Given the description of an element on the screen output the (x, y) to click on. 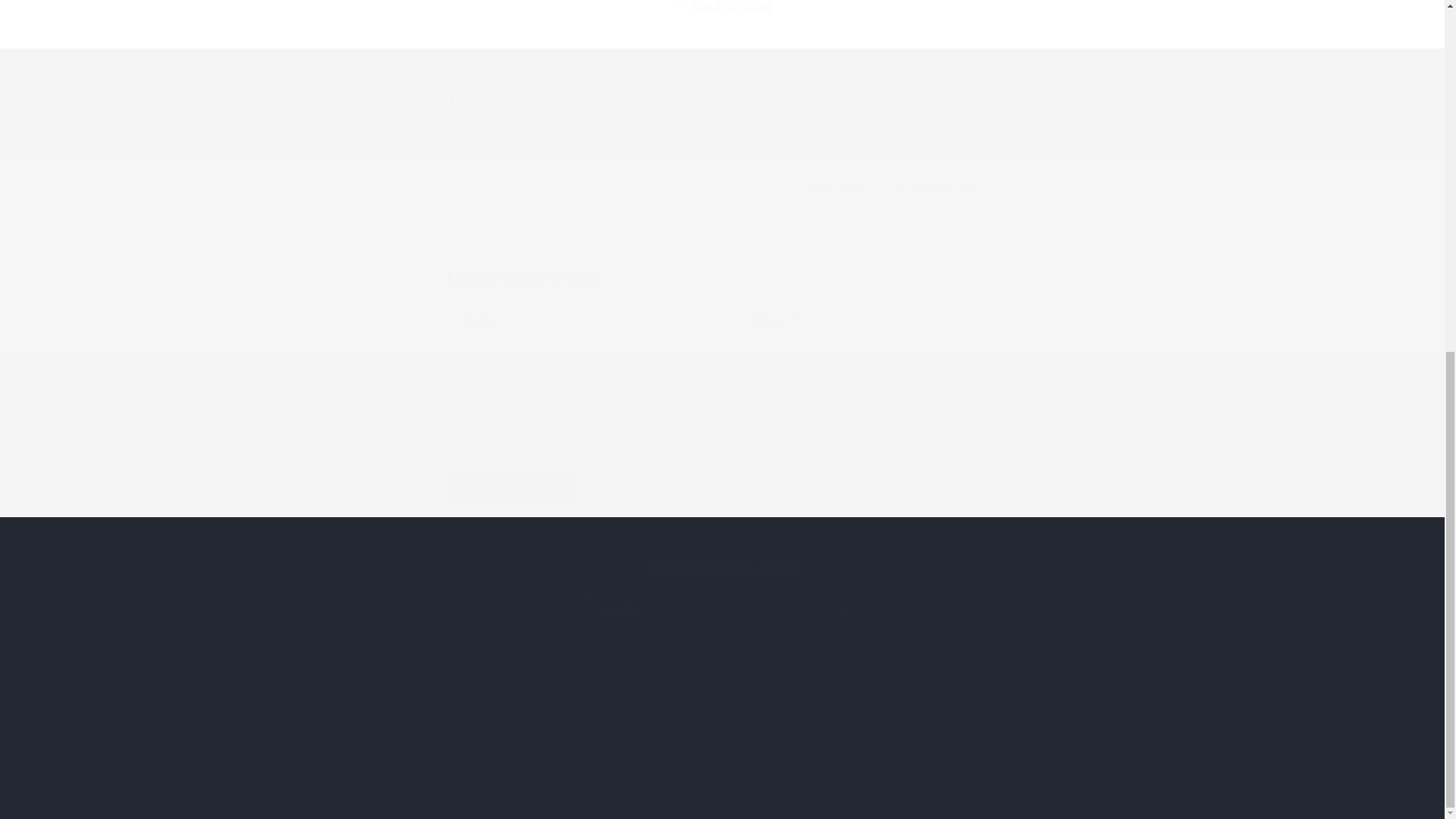
Post comment (721, 593)
